Given the description of an element on the screen output the (x, y) to click on. 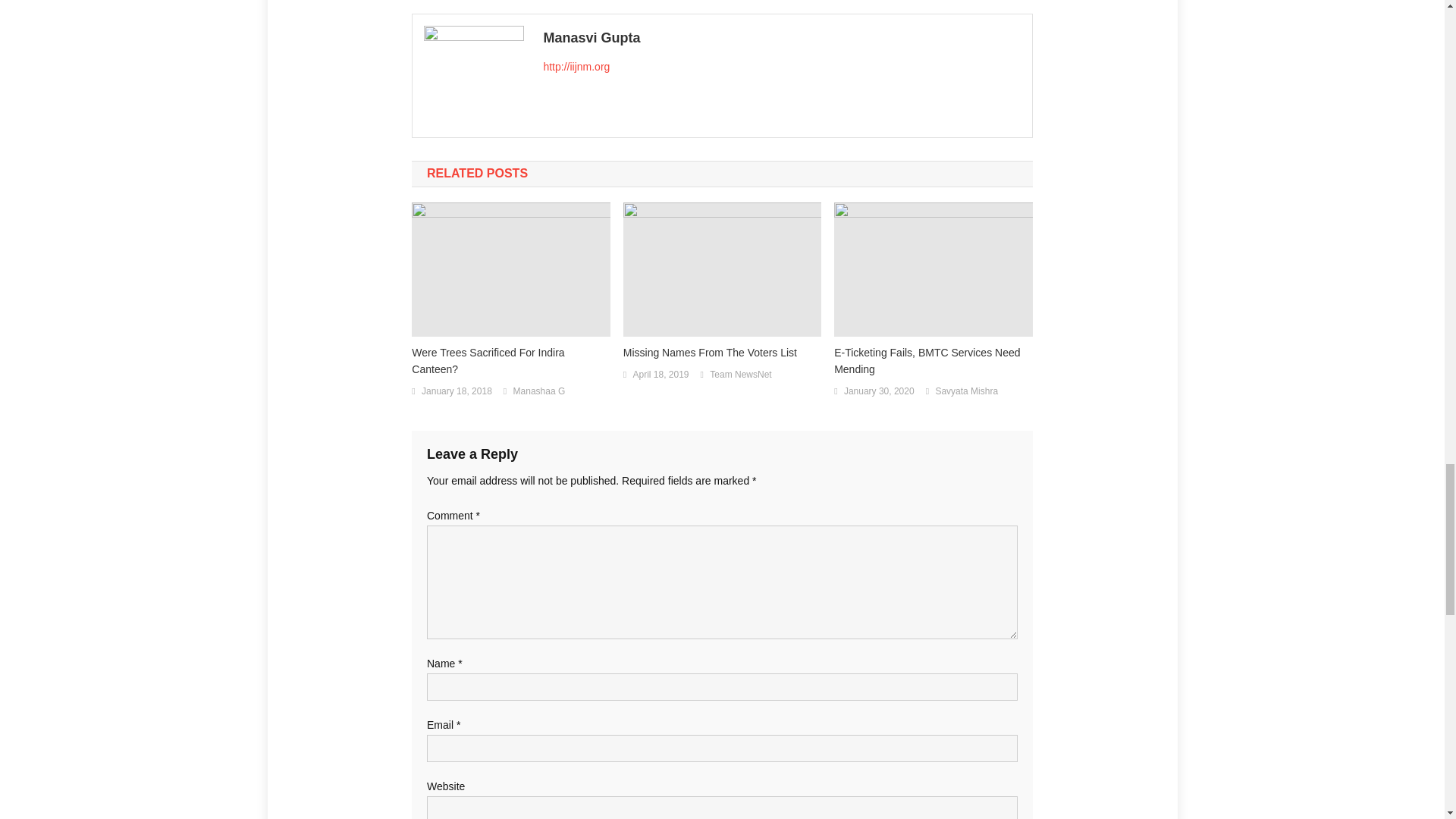
Manasvi Gupta (781, 37)
Were Trees Sacrificed For Indira Canteen? (511, 360)
Manashaa G (539, 392)
January 18, 2018 (457, 392)
